Given the description of an element on the screen output the (x, y) to click on. 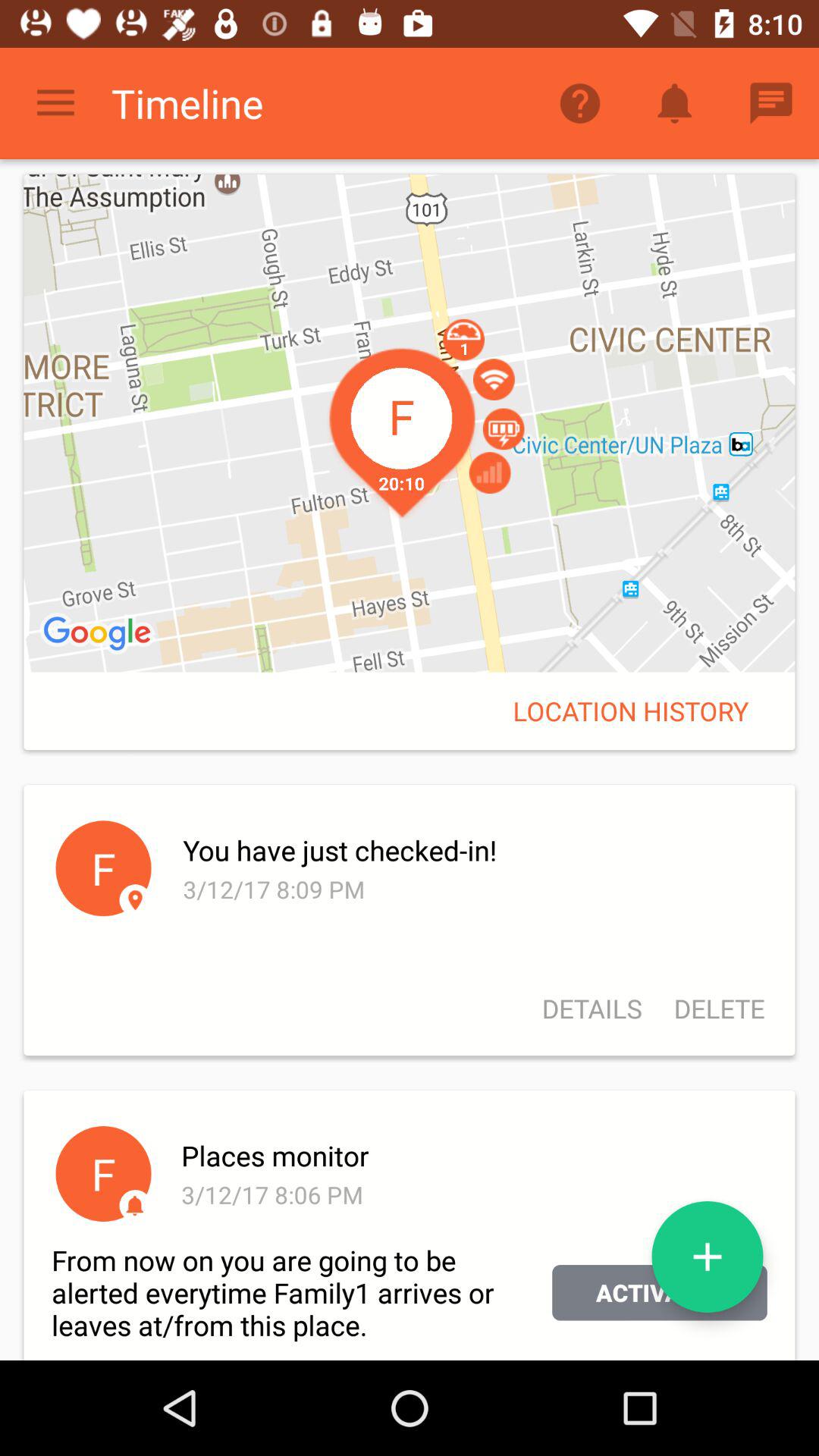
tap icon above 3 12 17 (473, 850)
